Given the description of an element on the screen output the (x, y) to click on. 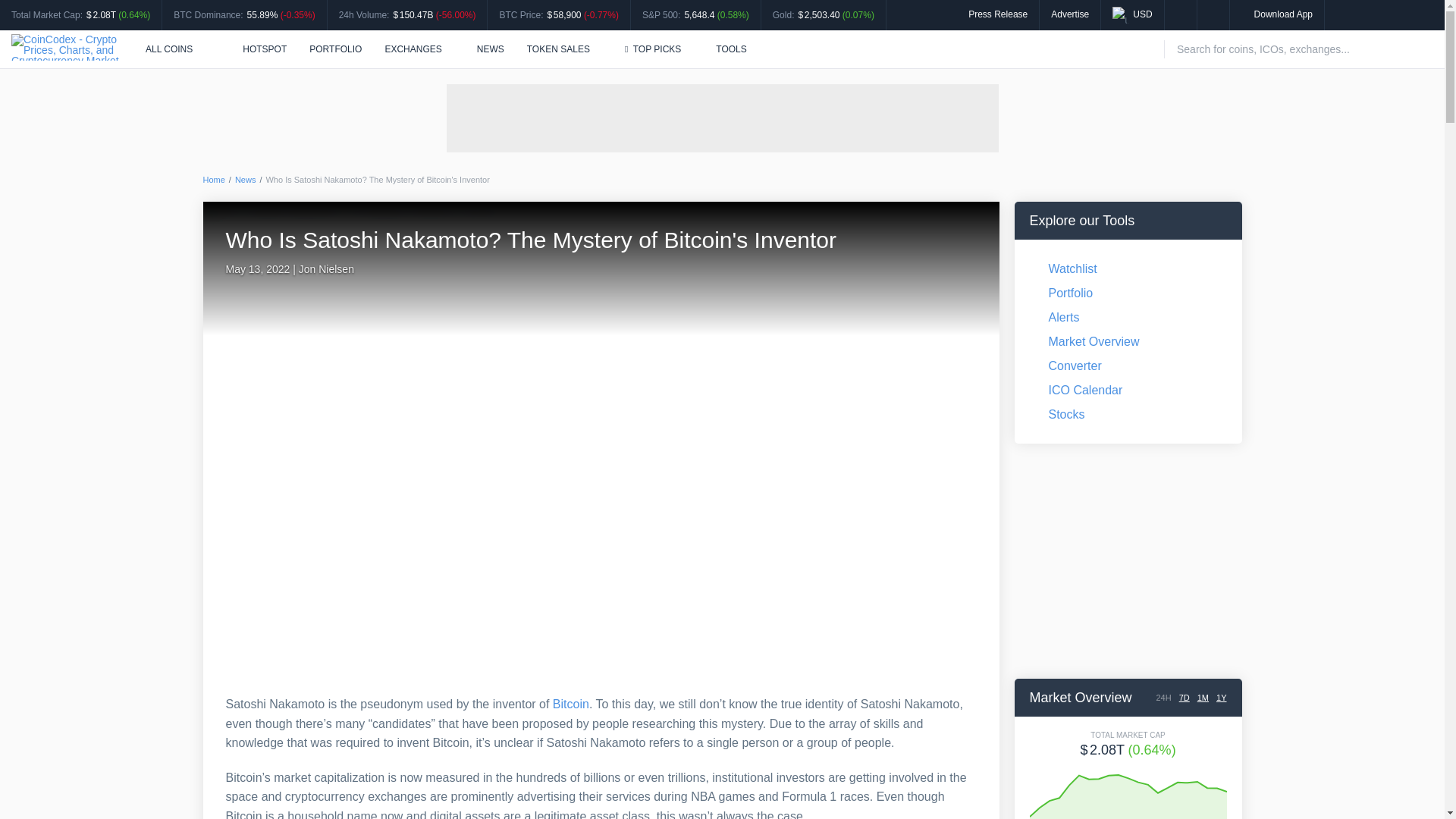
News (245, 179)
Press Release (997, 14)
Advertise (1070, 14)
Home (214, 179)
Bitcoin (571, 703)
NEWS (490, 48)
HOTSPOT (256, 48)
PORTFOLIO (335, 48)
Jon Nielsen (325, 268)
